Given the description of an element on the screen output the (x, y) to click on. 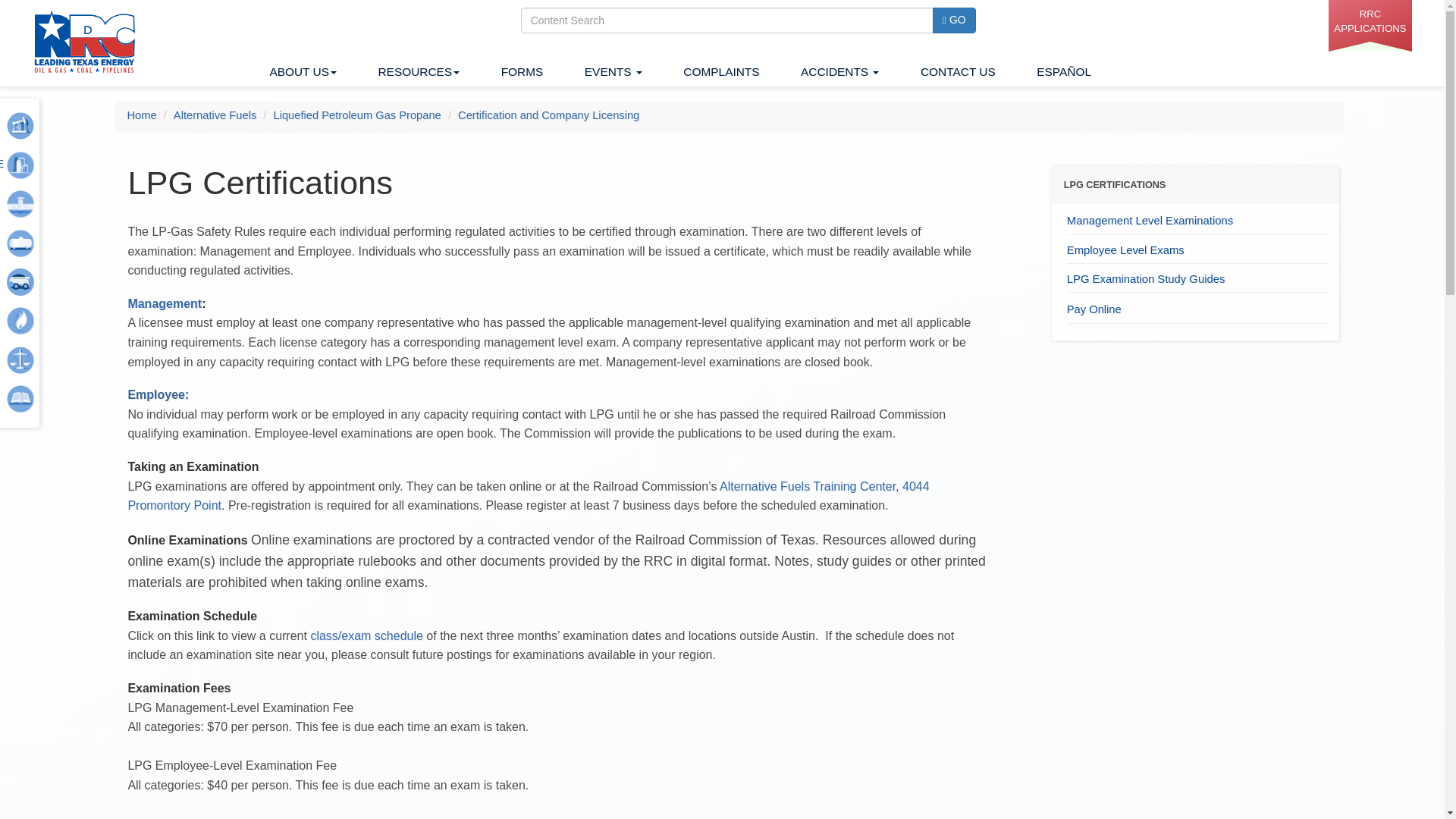
CERTS (366, 635)
RRC APPLICATIONS (1369, 25)
CONTACT US (957, 68)
RESOURCES (418, 68)
COMPLAINTS (721, 68)
ACCIDENTS (839, 68)
EVENTS (613, 68)
GO (954, 20)
CRITICAL INFRASTRUCTURE (15, 163)
Management Exams (165, 303)
ABOUT US (302, 68)
FORMS (521, 68)
Search this site (727, 20)
Employee Exams (158, 394)
